Given the description of an element on the screen output the (x, y) to click on. 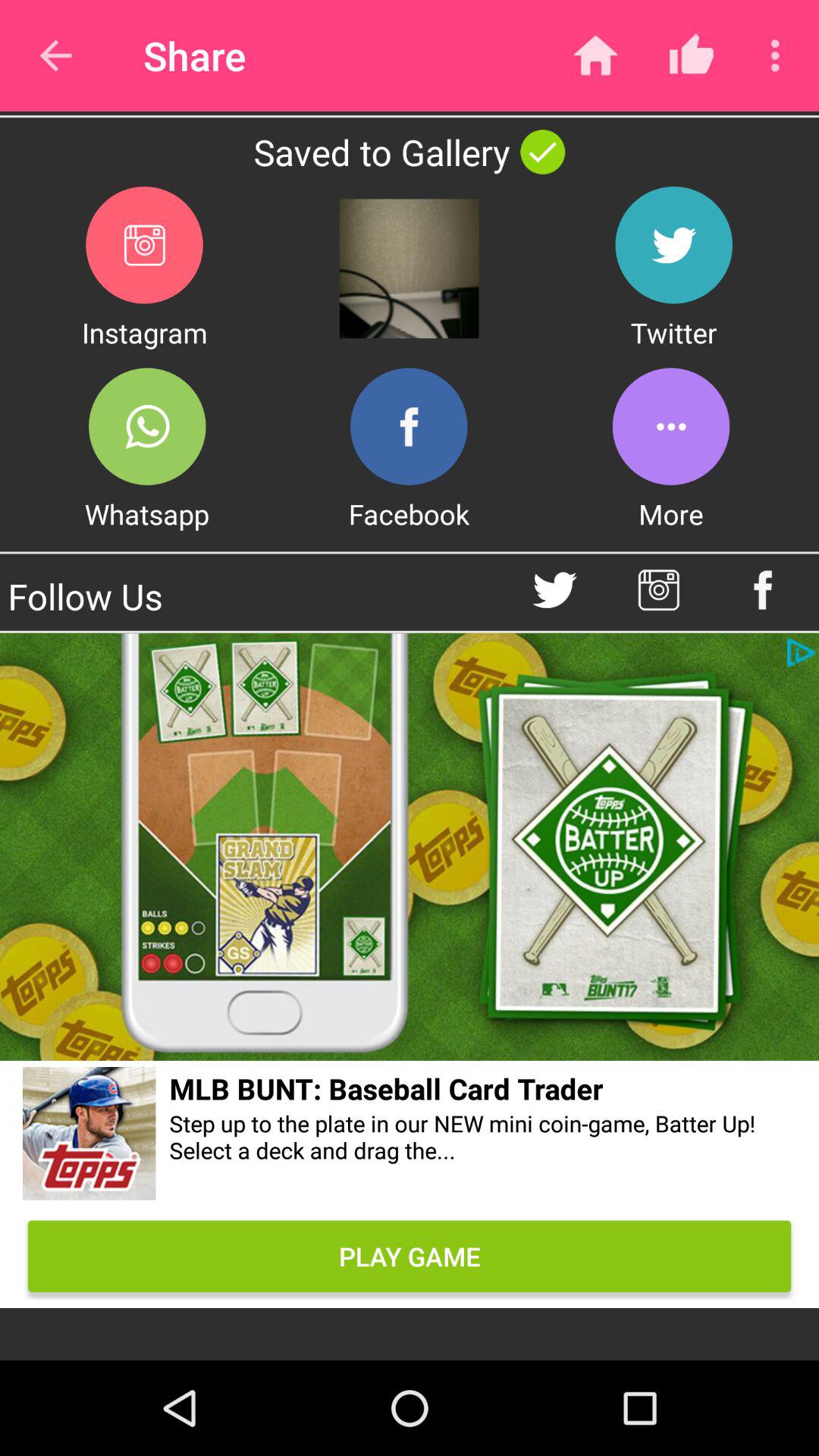
instagram page (658, 589)
